Given the description of an element on the screen output the (x, y) to click on. 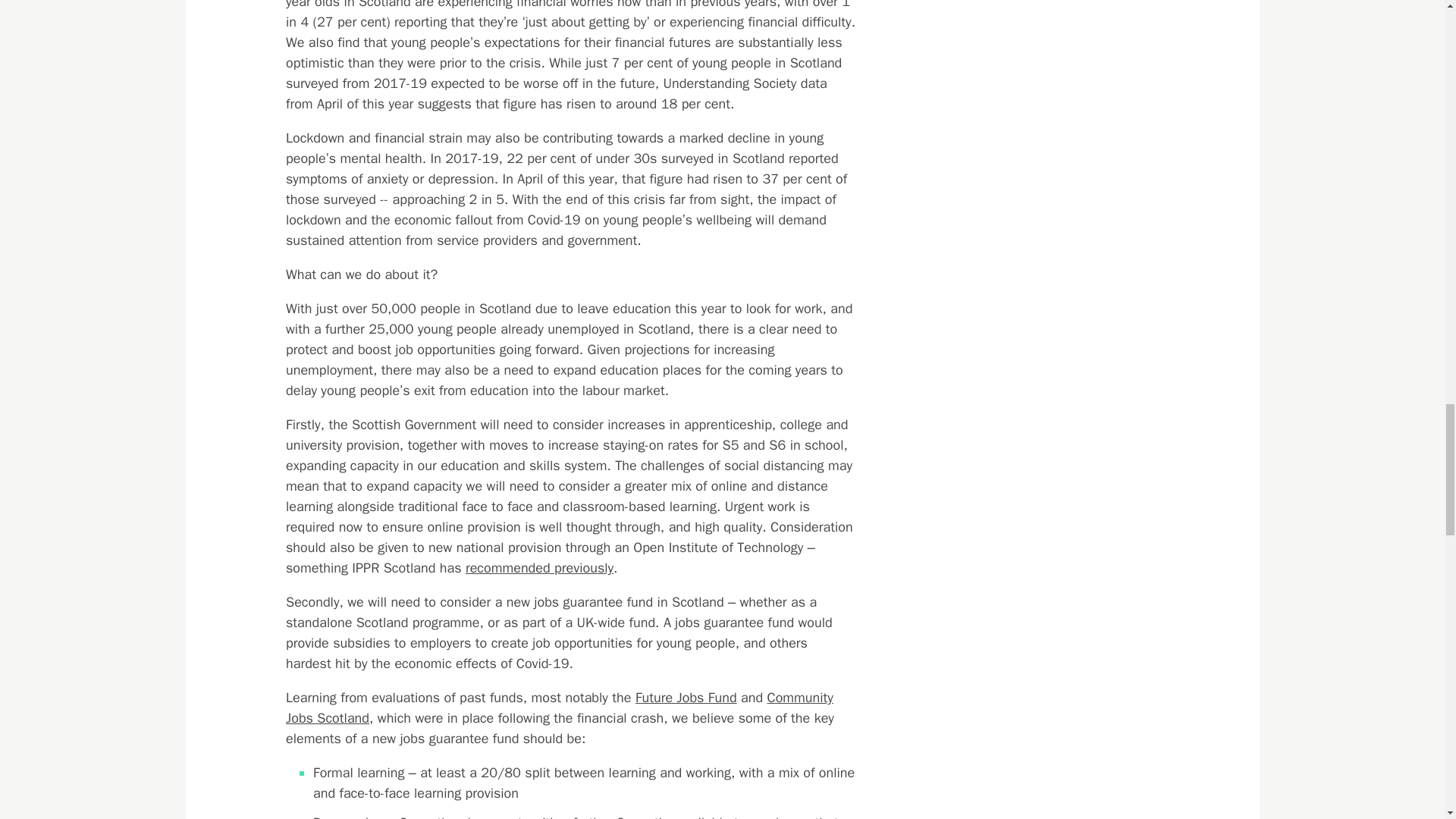
recommended previously (538, 567)
Future Jobs Fund (685, 697)
Community Jobs Scotland (558, 707)
